Given the description of an element on the screen output the (x, y) to click on. 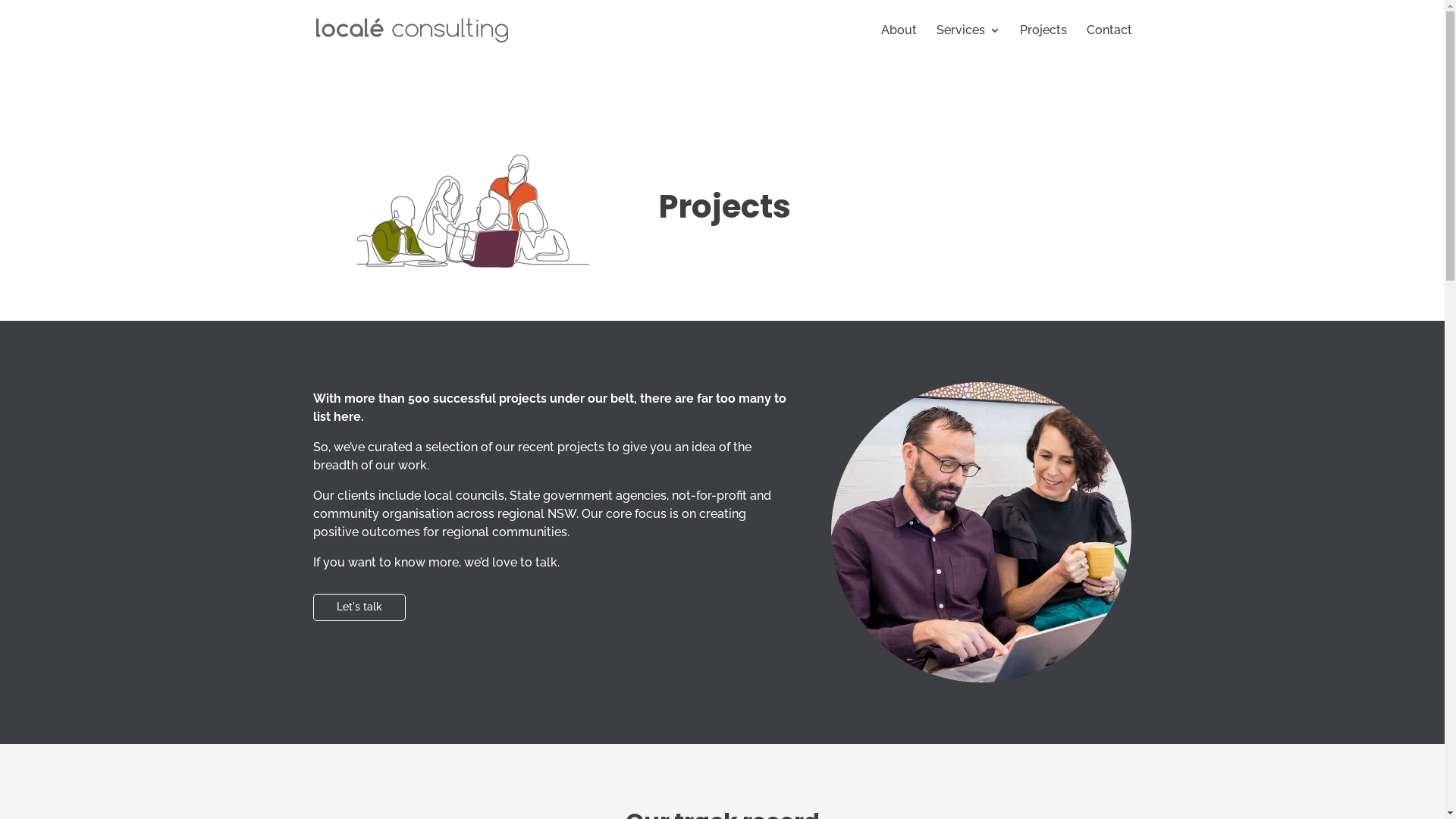
Contact Element type: text (1108, 42)
locale consulting projects Element type: hover (462, 211)
About Element type: text (898, 42)
Let's talk Element type: text (358, 607)
Projects Element type: text (1042, 42)
Services Element type: text (967, 42)
